Given the description of an element on the screen output the (x, y) to click on. 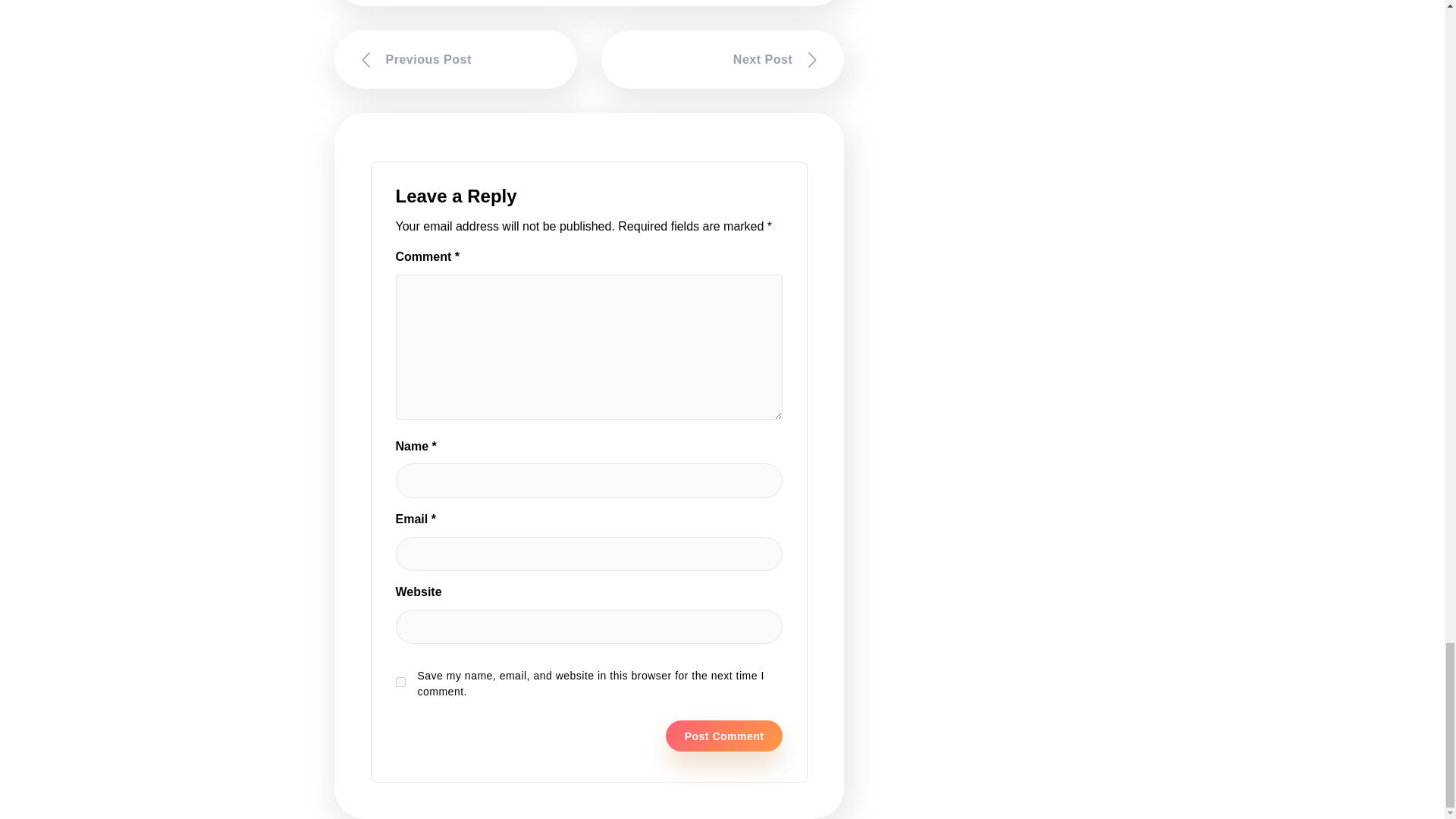
Previous Post (454, 59)
Post Comment (724, 736)
Post Comment (724, 736)
Next Post (722, 59)
yes (401, 682)
